Given the description of an element on the screen output the (x, y) to click on. 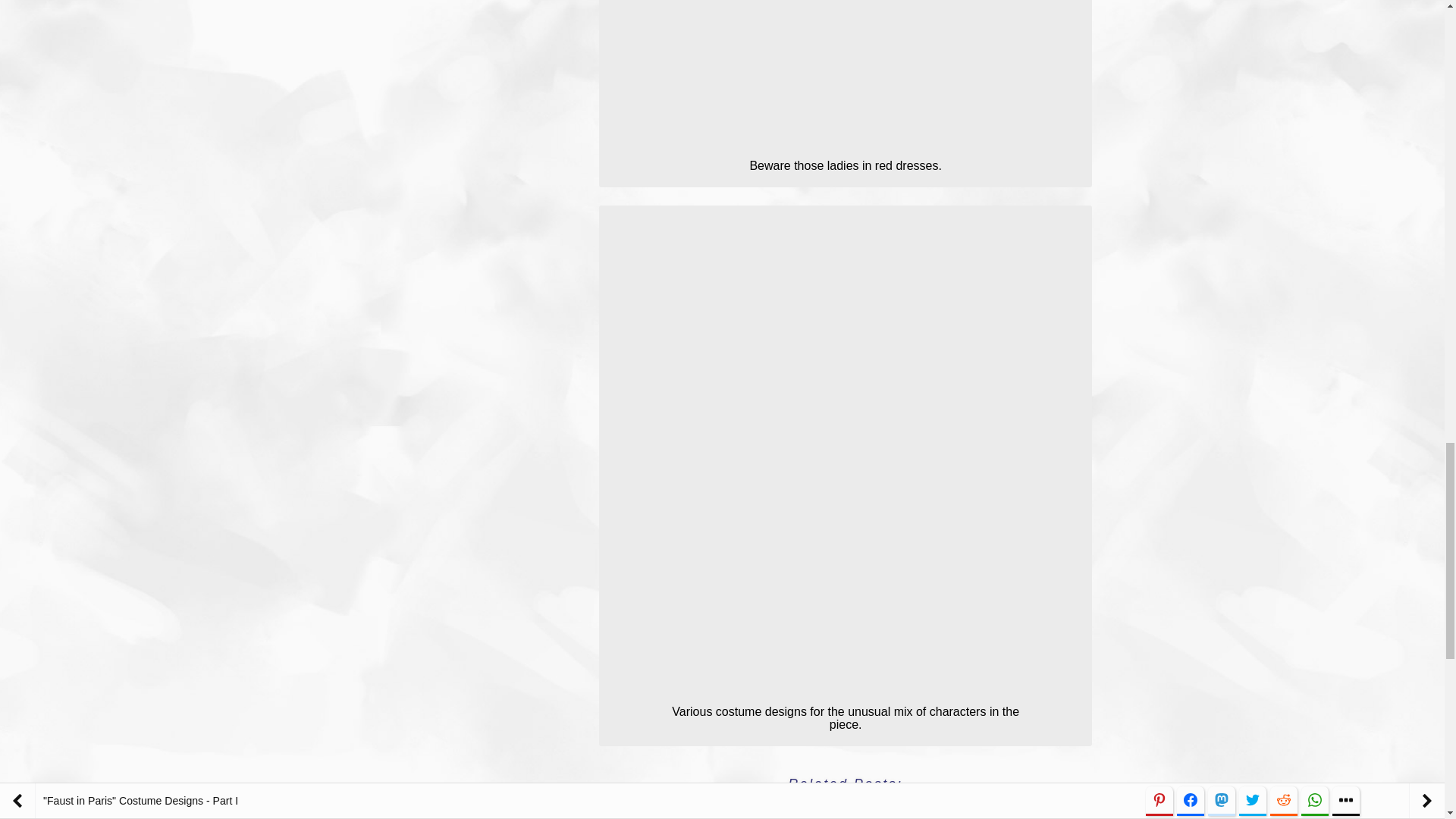
Goblin-packed Fantasy Illustration (736, 815)
Goblin-packed Fantasy Illustration (851, 814)
Faust in Paris - danceress in red dress (844, 73)
